Given the description of an element on the screen output the (x, y) to click on. 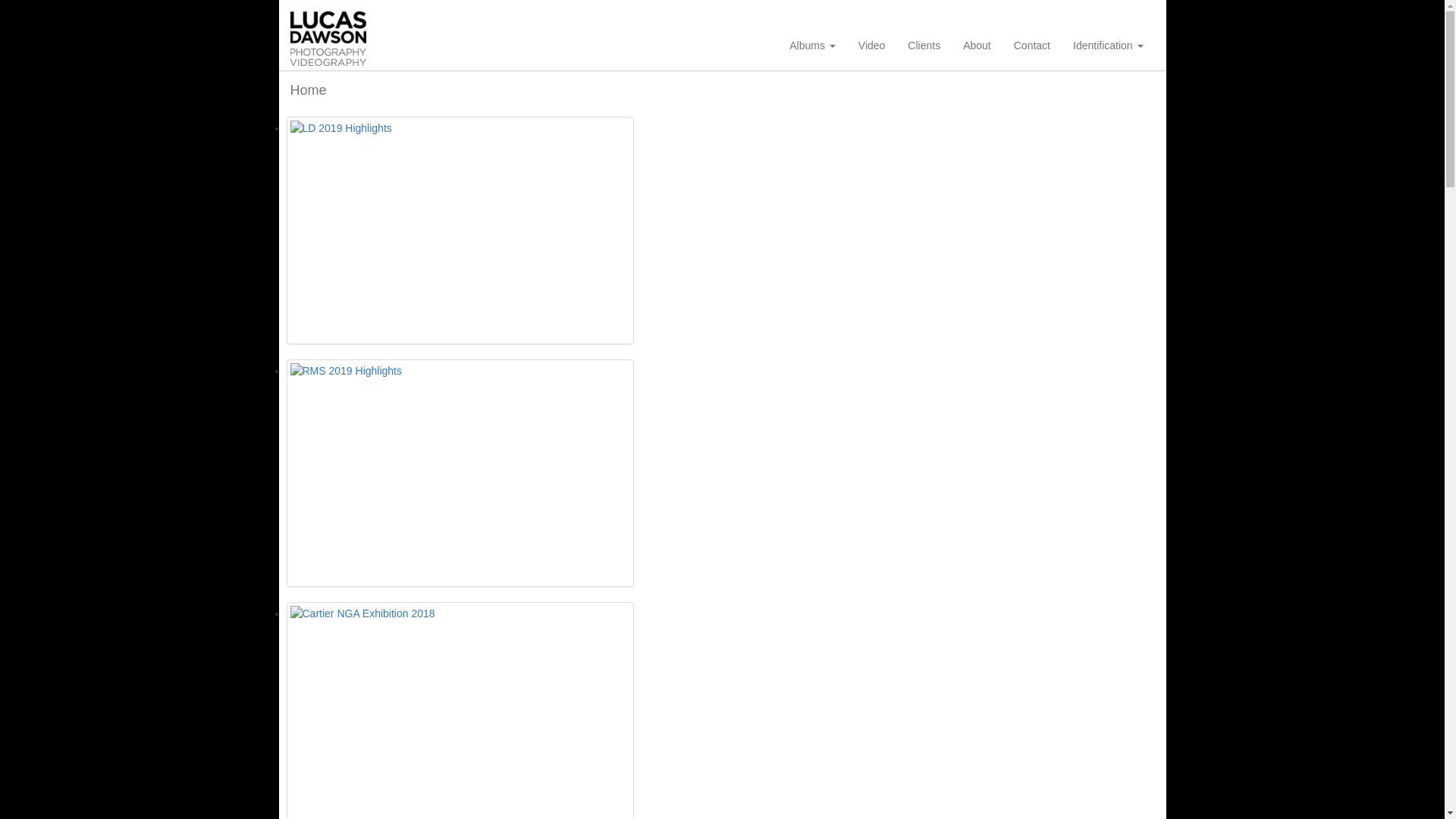
Video Element type: text (872, 45)
Clients Element type: text (923, 45)
Identification Element type: text (1107, 45)
Albums Element type: text (812, 45)
About Element type: text (976, 45)
LD 2019 Highlights Element type: hover (459, 230)
Contact Element type: text (1031, 45)
RMS 2019 Highlights Element type: hover (459, 472)
